Given the description of an element on the screen output the (x, y) to click on. 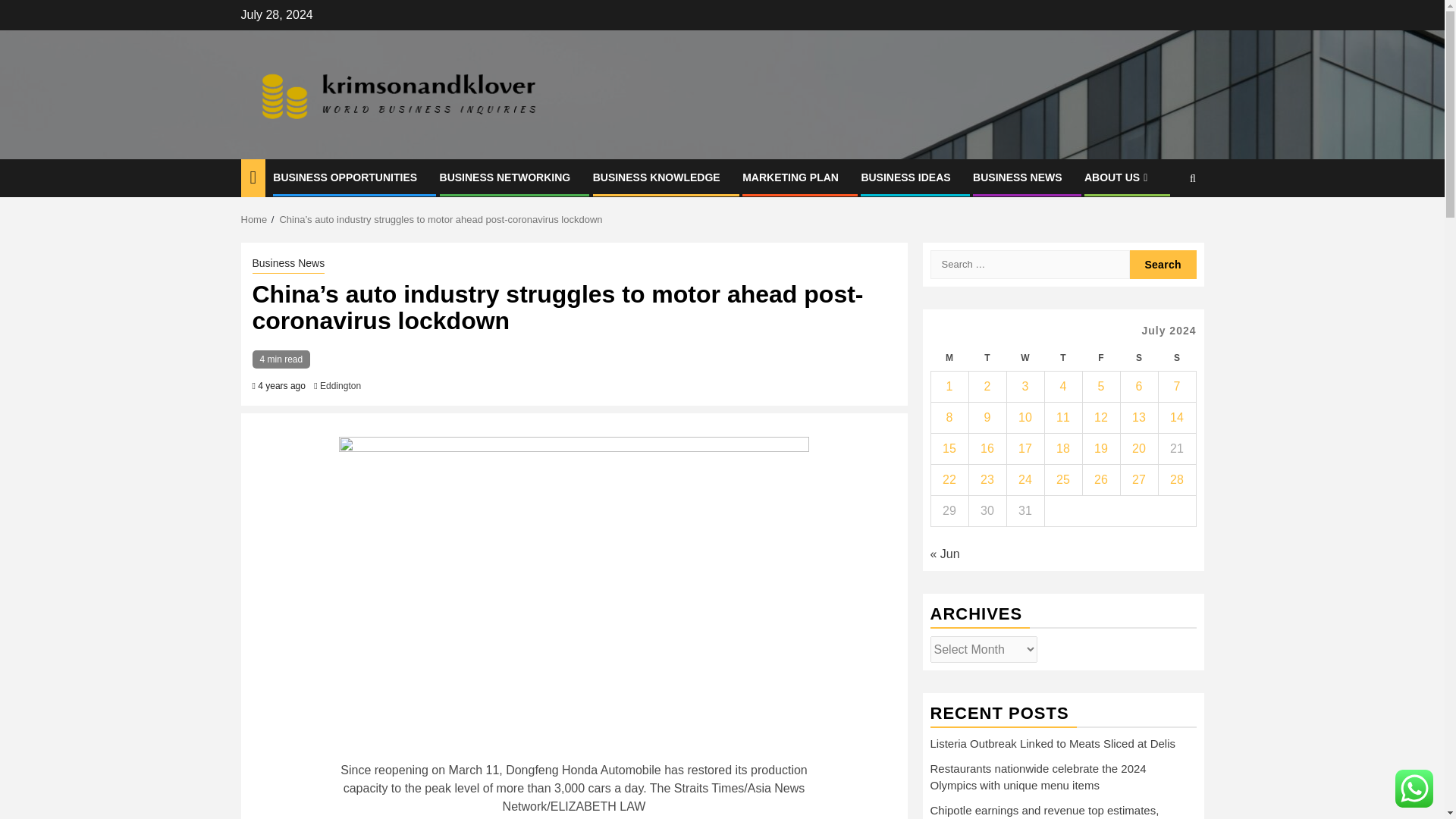
Home (254, 219)
Search (1162, 264)
BUSINESS IDEAS (905, 177)
BUSINESS OPPORTUNITIES (344, 177)
Business News (287, 264)
Sunday (1176, 357)
Search (1162, 264)
Search (1163, 224)
Friday (1100, 357)
Monday (949, 357)
Thursday (1062, 357)
BUSINESS NETWORKING (504, 177)
BUSINESS KNOWLEDGE (656, 177)
ABOUT US (1117, 177)
MARKETING PLAN (790, 177)
